Given the description of an element on the screen output the (x, y) to click on. 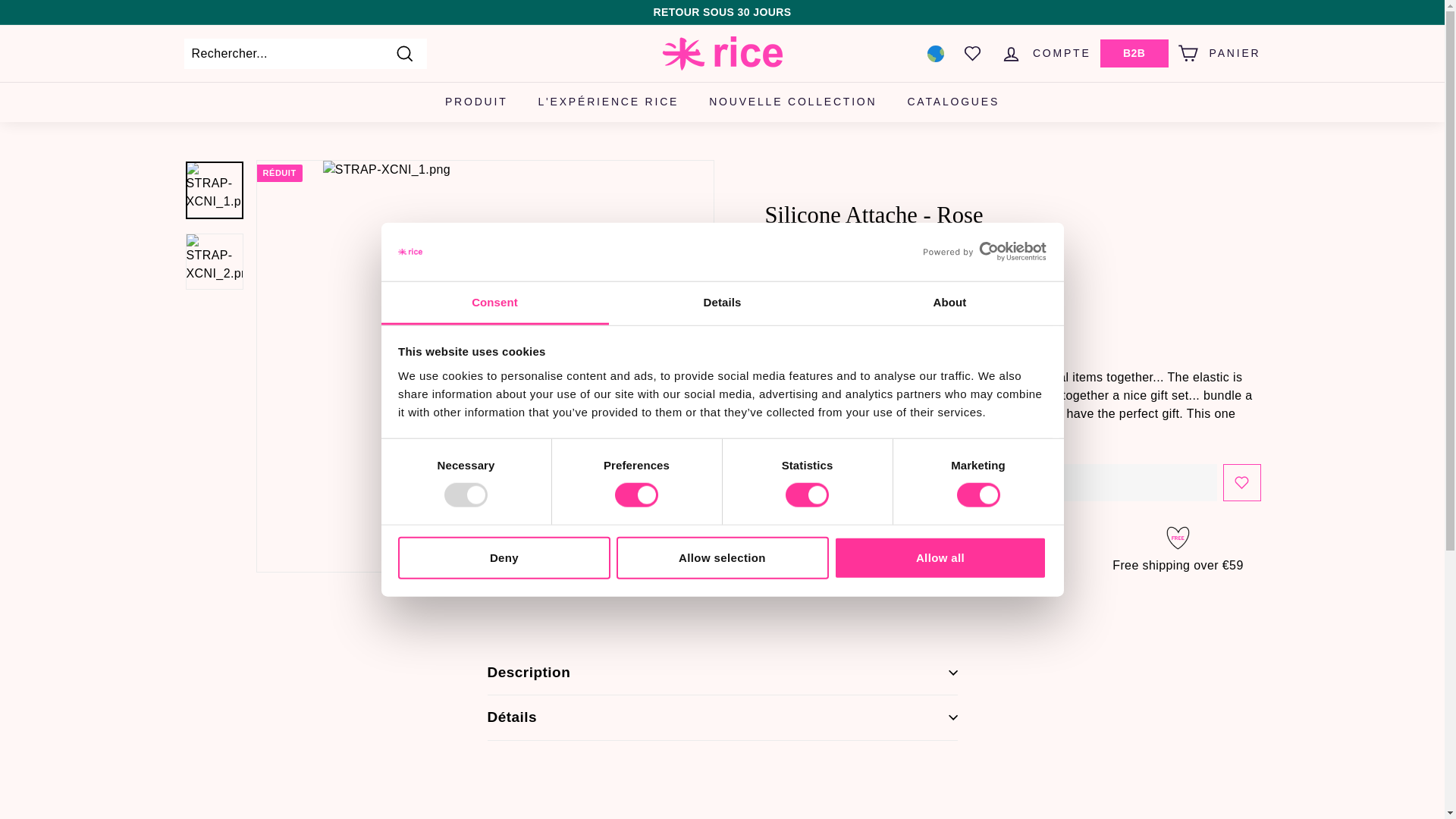
Details (721, 303)
About (948, 303)
Consent (494, 303)
